Given the description of an element on the screen output the (x, y) to click on. 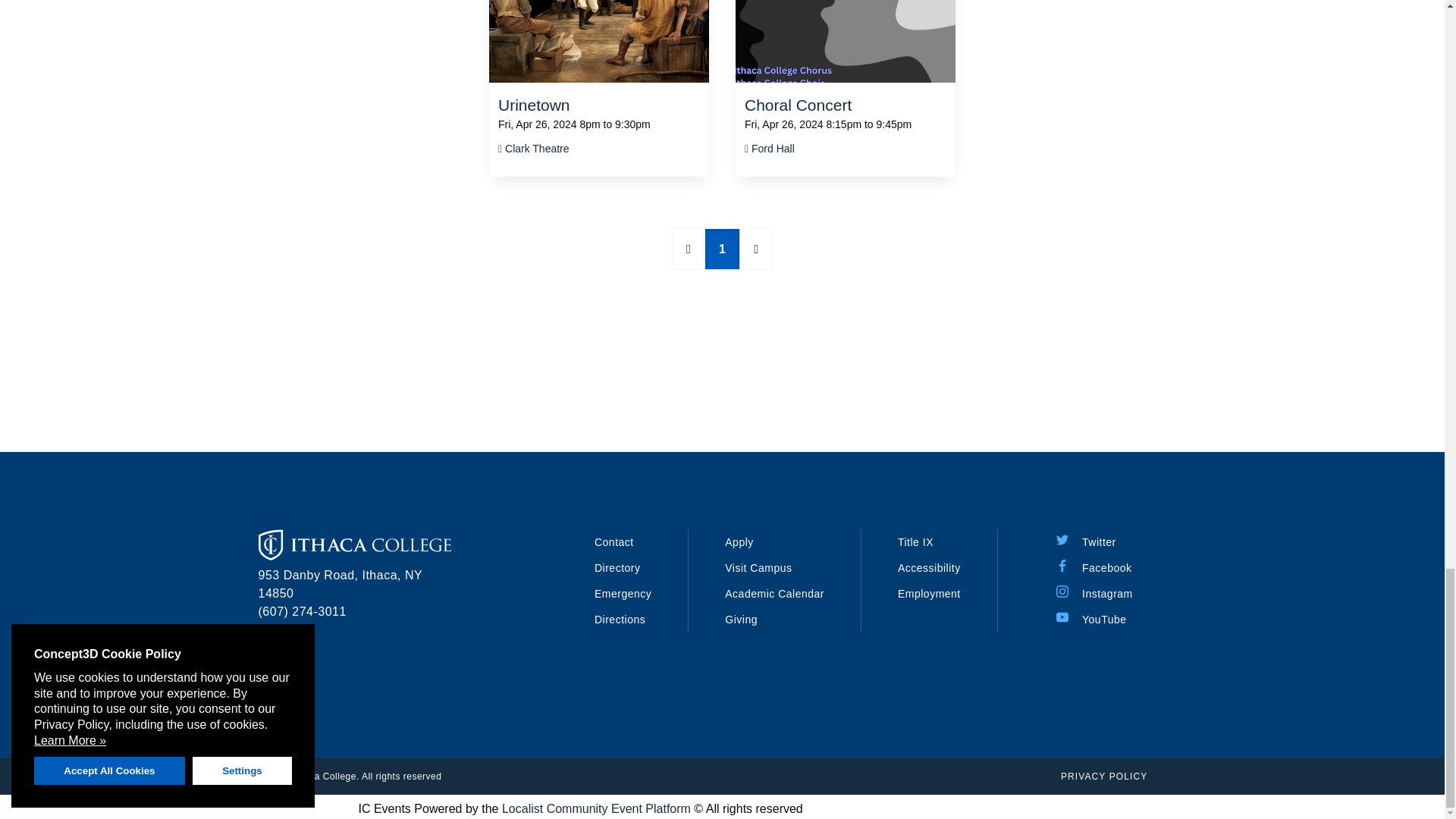
Jobs at Ithaca College (929, 593)
Title IX information (915, 541)
twitter icon Created with Sketch. (1062, 539)
Emergency information (622, 593)
Visit Ithaca College (758, 567)
Academic Calendar (774, 593)
Driving directions to Ithaca College (619, 619)
Giving to Ithaca College (741, 619)
Accessibility at Ithaca College (929, 567)
Apply to Ithaca College (739, 541)
istagram icon Created with Sketch. (1062, 591)
Contact Ithaca College (613, 541)
youtube icon Created with Sketch. (1062, 616)
facebook icon Created with Sketch. (1062, 565)
Search current faculty, staff, and students (617, 567)
